Given the description of an element on the screen output the (x, y) to click on. 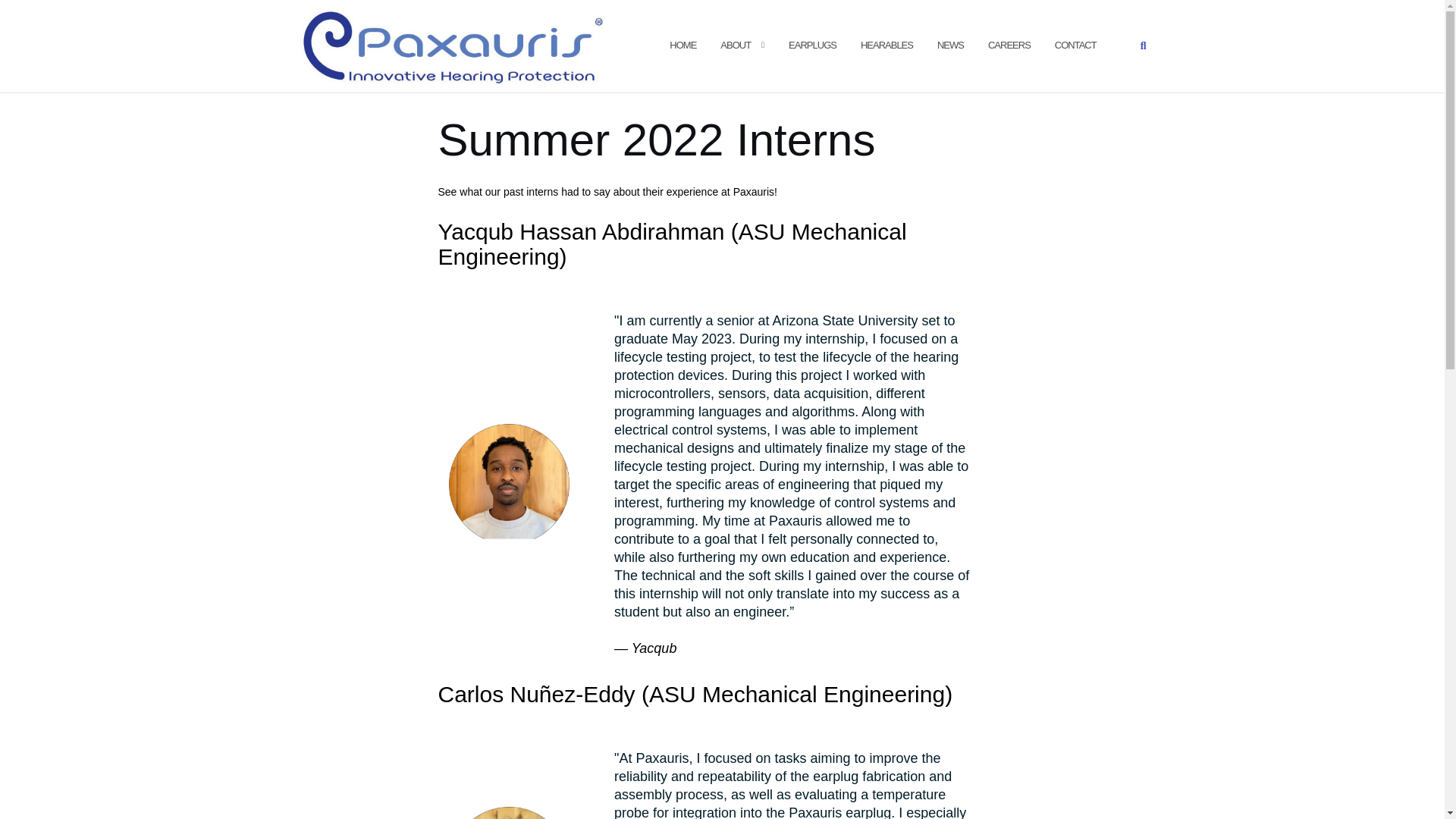
Careers (1009, 45)
CONTACT (1075, 45)
Contact (1075, 45)
CAREERS (1009, 45)
EARPLUGS (812, 45)
HEARABLES (886, 45)
Hearables (886, 45)
Earplugs (812, 45)
